Given the description of an element on the screen output the (x, y) to click on. 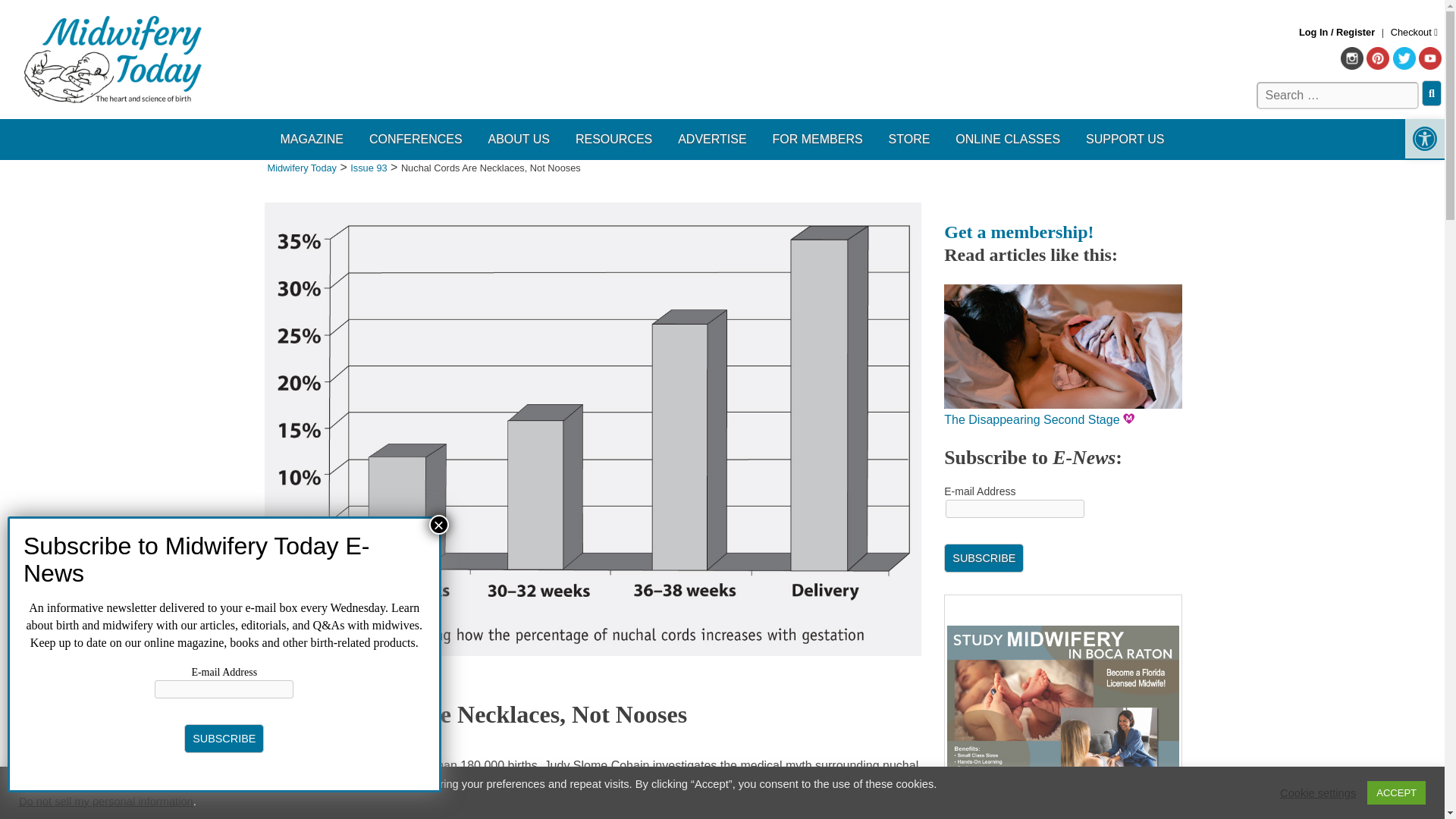
Subscribe (983, 557)
Accessibility Tools (1424, 138)
View your shopping cart (1414, 32)
Go to the Issue 93 tag archives. (368, 167)
Checkout (1414, 32)
Subscribe (223, 737)
Posts by Judy Slome Cohain (323, 737)
Go to Midwifery Today. (301, 167)
